Given the description of an element on the screen output the (x, y) to click on. 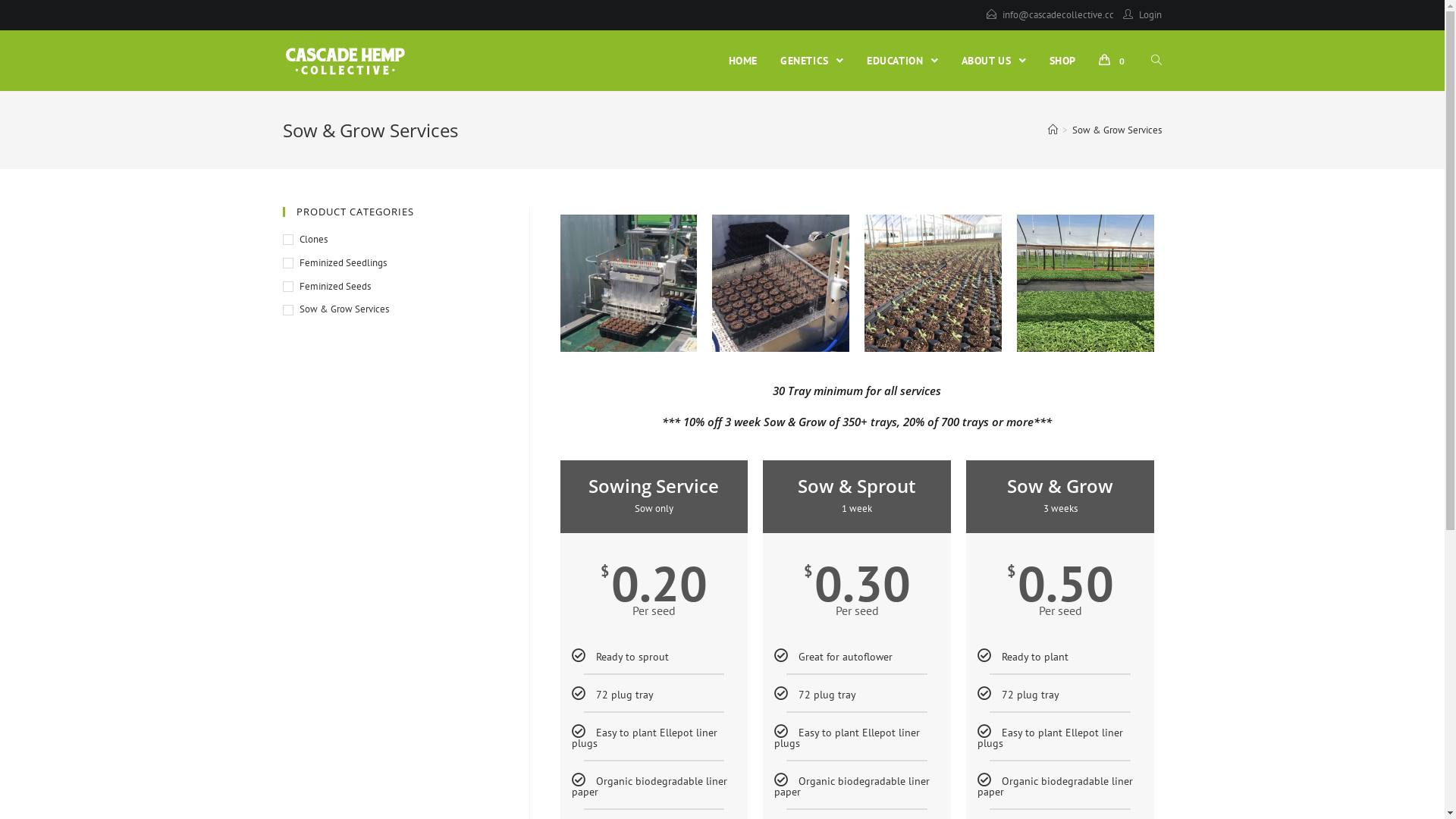
Sow & Grow Services Element type: text (394, 309)
Clones Element type: text (394, 239)
ABOUT US Element type: text (994, 60)
HOME Element type: text (742, 60)
SHOP Element type: text (1062, 60)
Login Element type: text (1150, 14)
Feminized Seeds Element type: text (394, 286)
Sow & Grow Services Element type: text (1116, 129)
GENETICS Element type: text (811, 60)
info@cascadecollective.cc Element type: text (1057, 14)
0 Element type: text (1113, 60)
Feminized Seedlings Element type: text (394, 263)
EDUCATION Element type: text (902, 60)
